Given the description of an element on the screen output the (x, y) to click on. 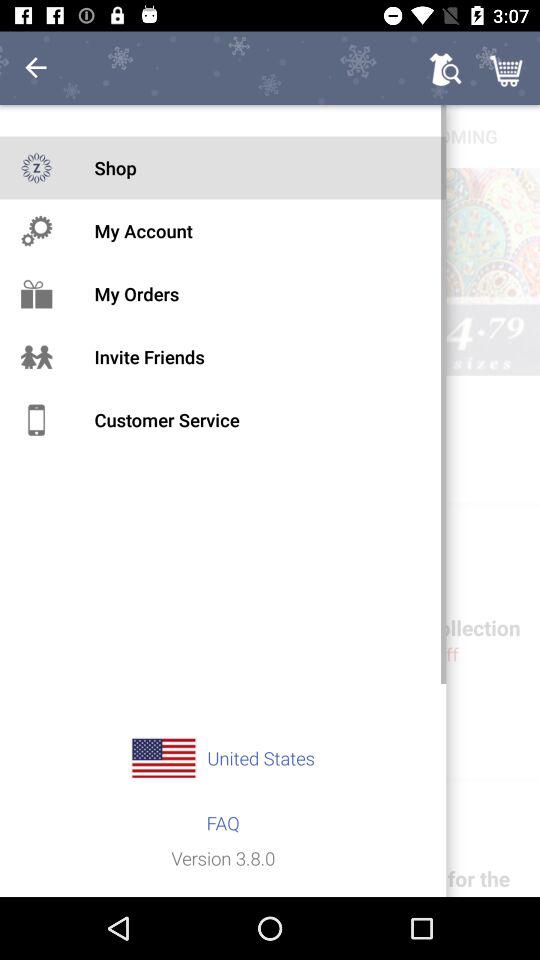
click on cart icon (508, 68)
